Given the description of an element on the screen output the (x, y) to click on. 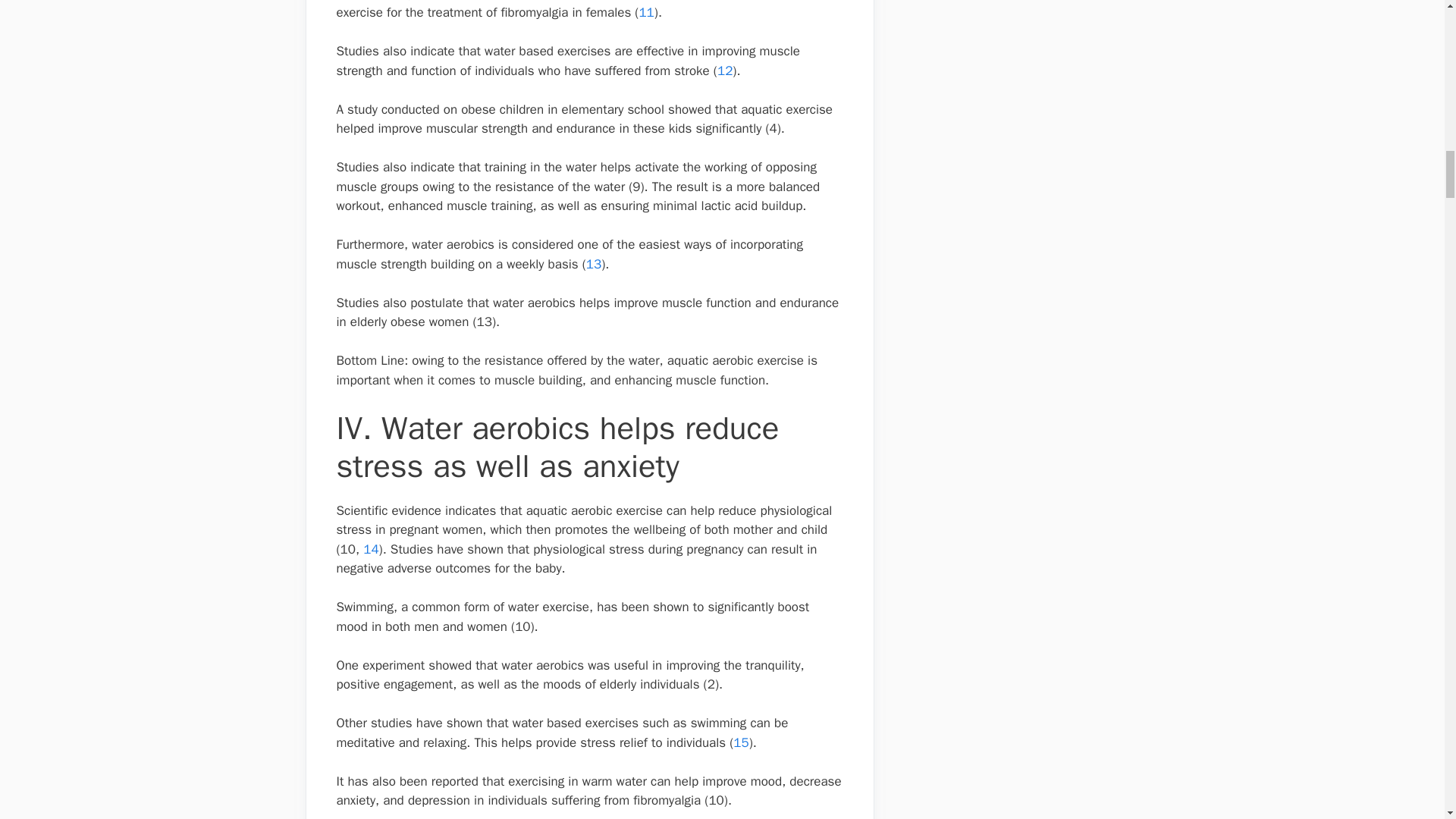
13 (593, 263)
12 (724, 70)
15 (740, 742)
14 (370, 549)
11 (646, 12)
